Given the description of an element on the screen output the (x, y) to click on. 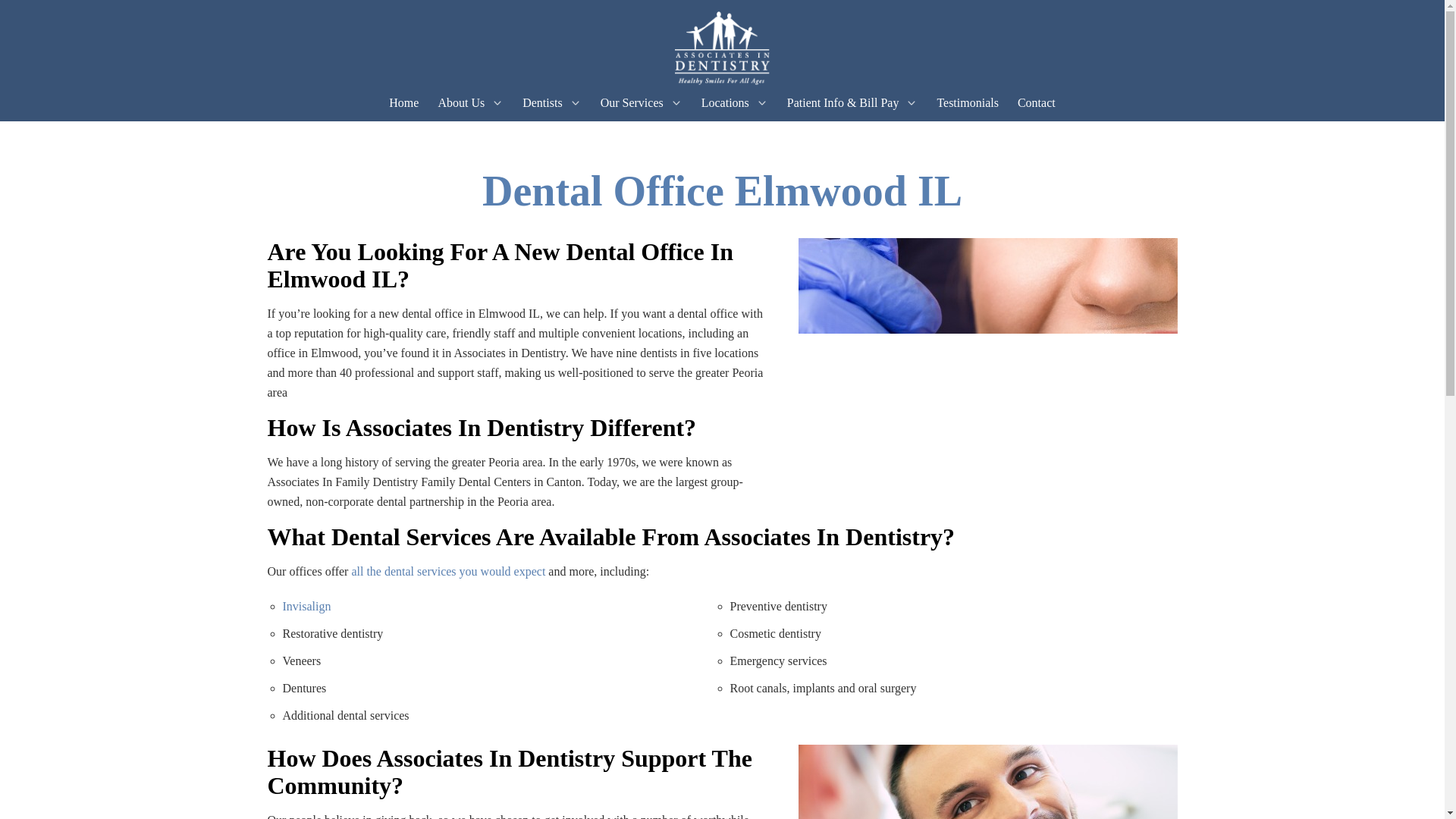
Contact (1036, 102)
Locations (725, 102)
Aaron Thum, DMD (605, 132)
Additional Dental Services (707, 132)
Peoria, IL (784, 133)
Invisalign (306, 605)
Our Services (631, 102)
Testimonials (967, 102)
Invisalign (707, 133)
Dentists (542, 102)
Home (403, 102)
Insurance And Billing (870, 133)
Elmwood, IL (784, 132)
all the dental services you would expect (445, 571)
Kelly Abrams, DDS (605, 133)
